Given the description of an element on the screen output the (x, y) to click on. 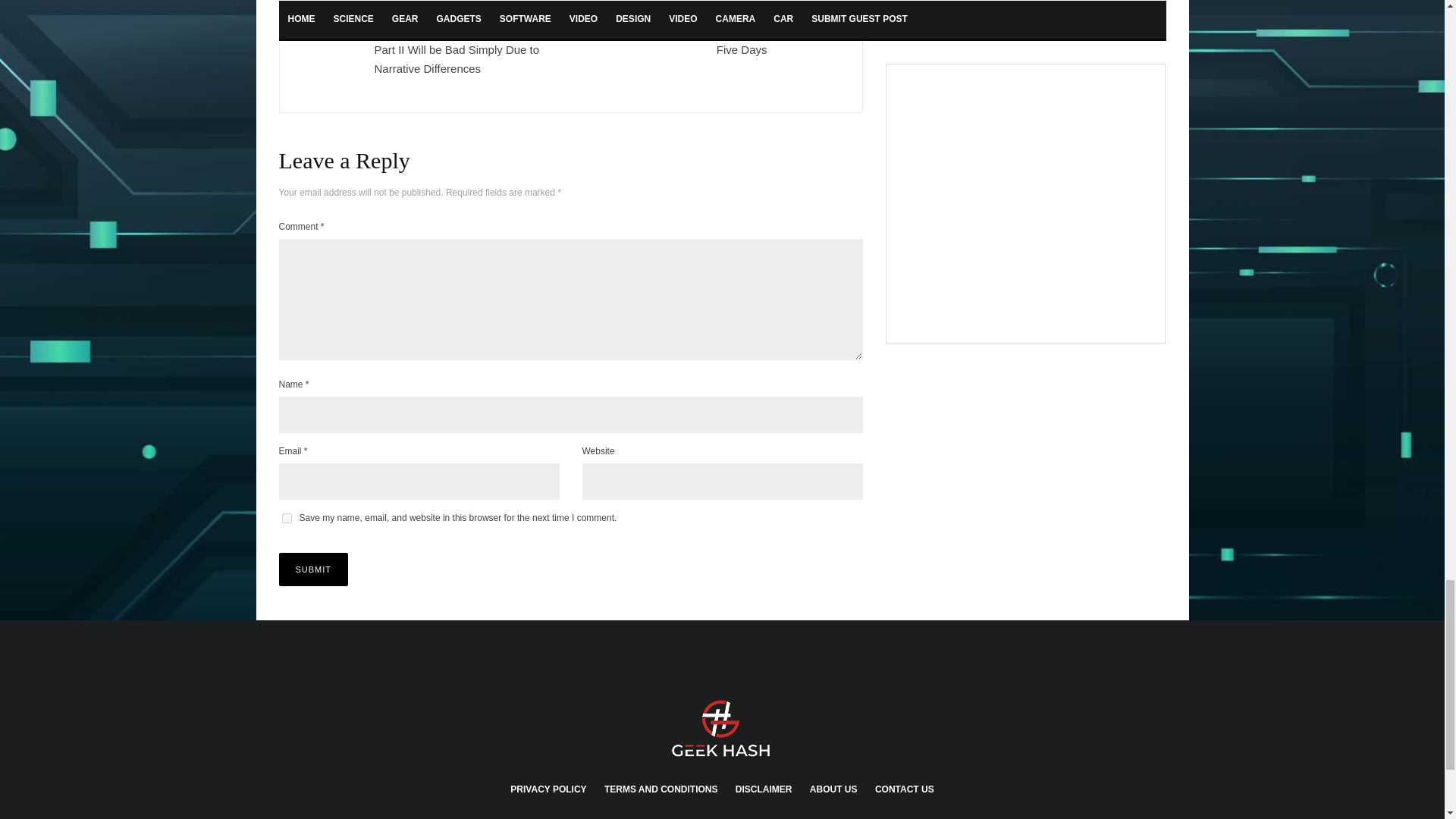
yes (287, 518)
Submit (314, 569)
